Given the description of an element on the screen output the (x, y) to click on. 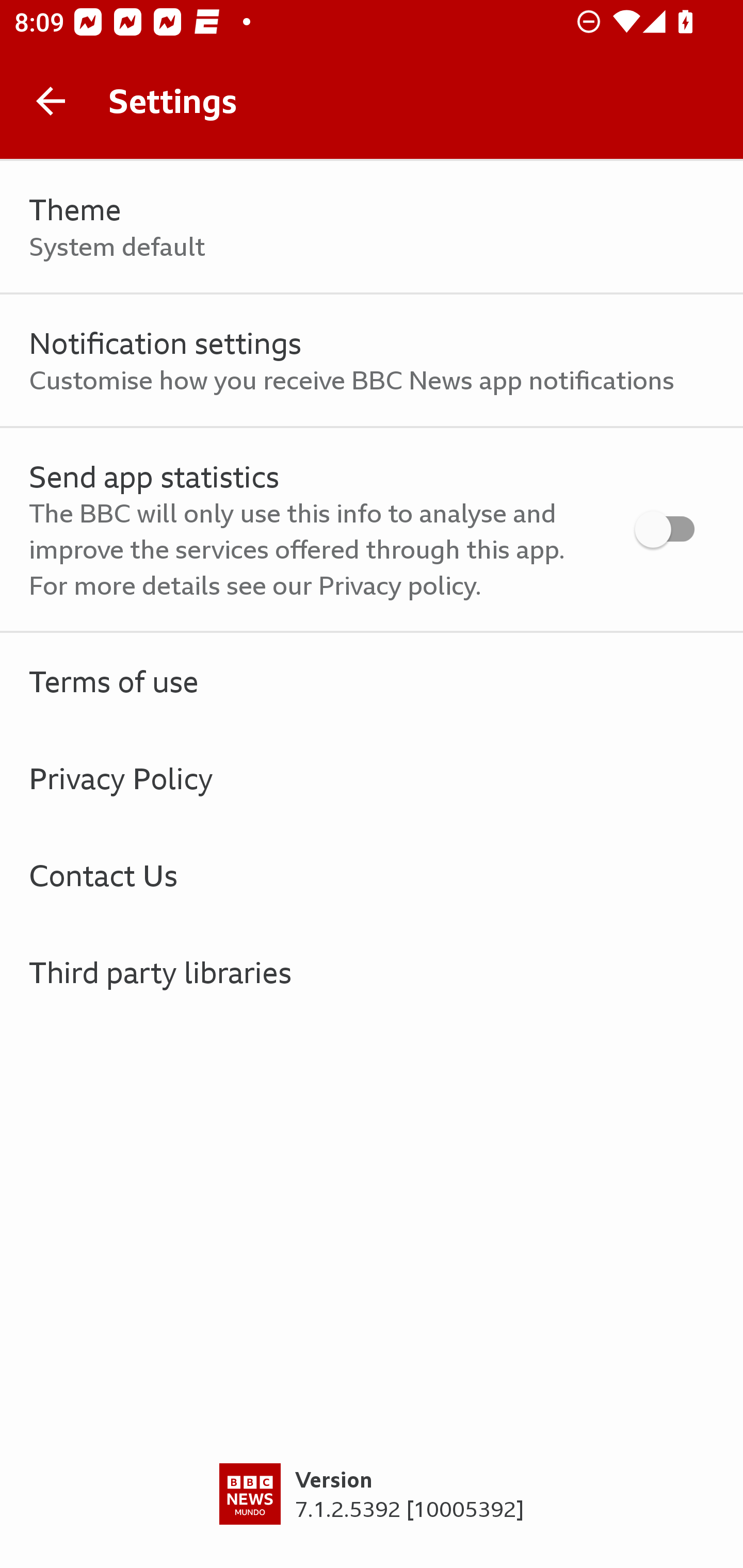
Back (50, 101)
Theme System default (371, 227)
Terms of use (371, 681)
Privacy Policy (371, 777)
Contact Us (371, 874)
Third party libraries (371, 971)
Version 7.1.2.5392 [10005392] (371, 1515)
